Given the description of an element on the screen output the (x, y) to click on. 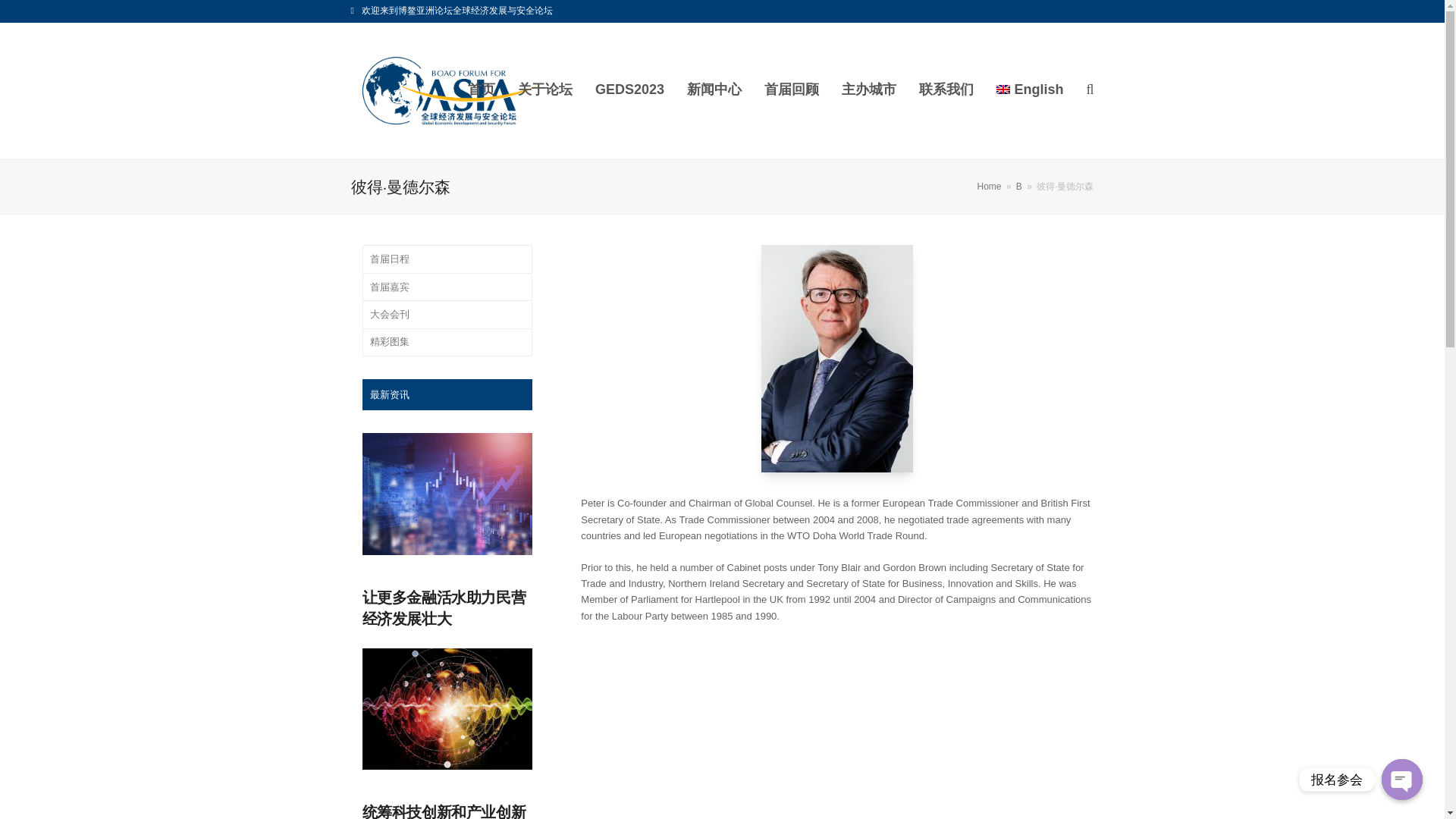
English (1029, 90)
B (1019, 185)
English (1029, 90)
GEDS2023 (629, 90)
Home (988, 185)
